Given the description of an element on the screen output the (x, y) to click on. 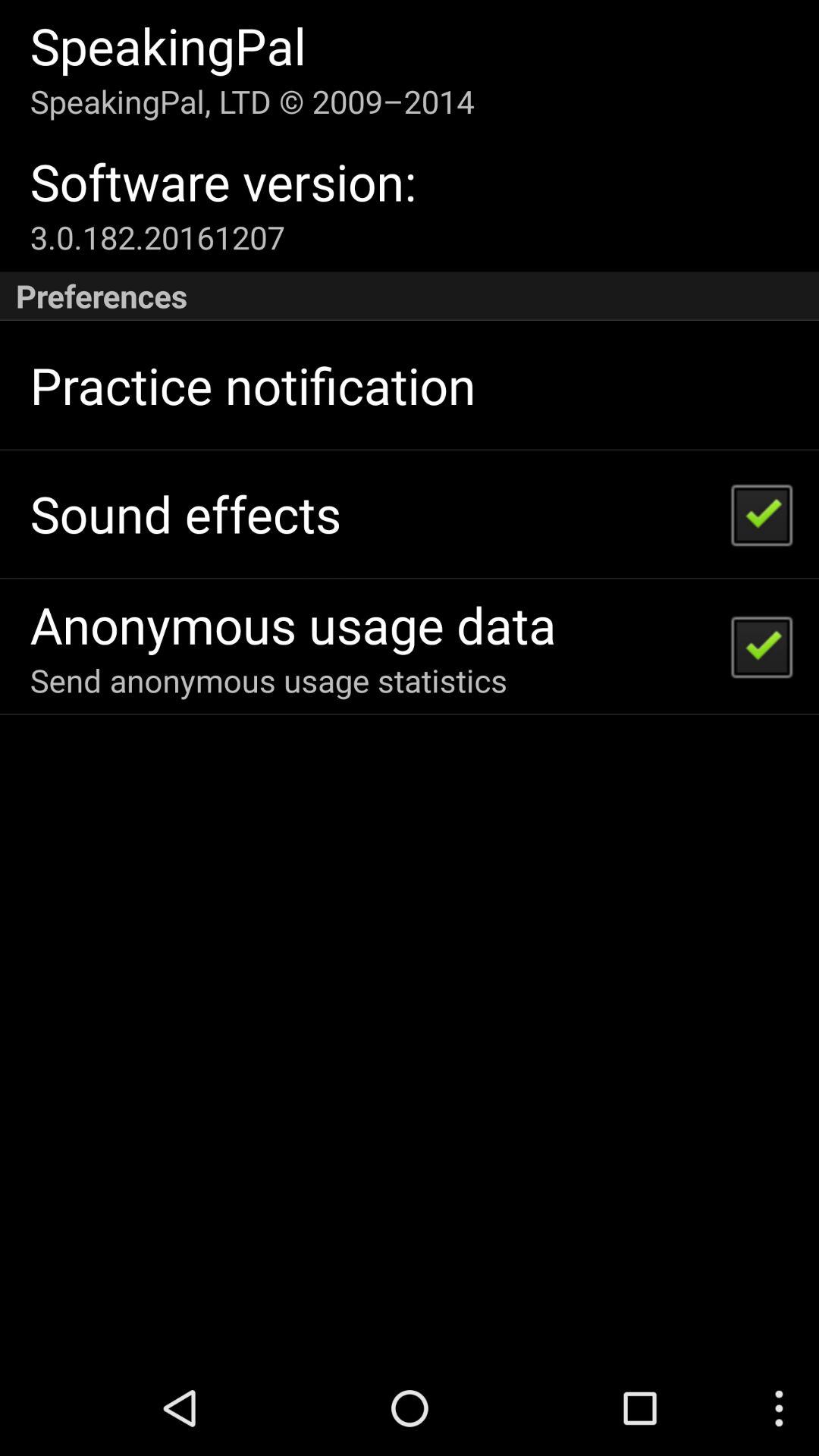
swipe until preferences icon (409, 295)
